Given the description of an element on the screen output the (x, y) to click on. 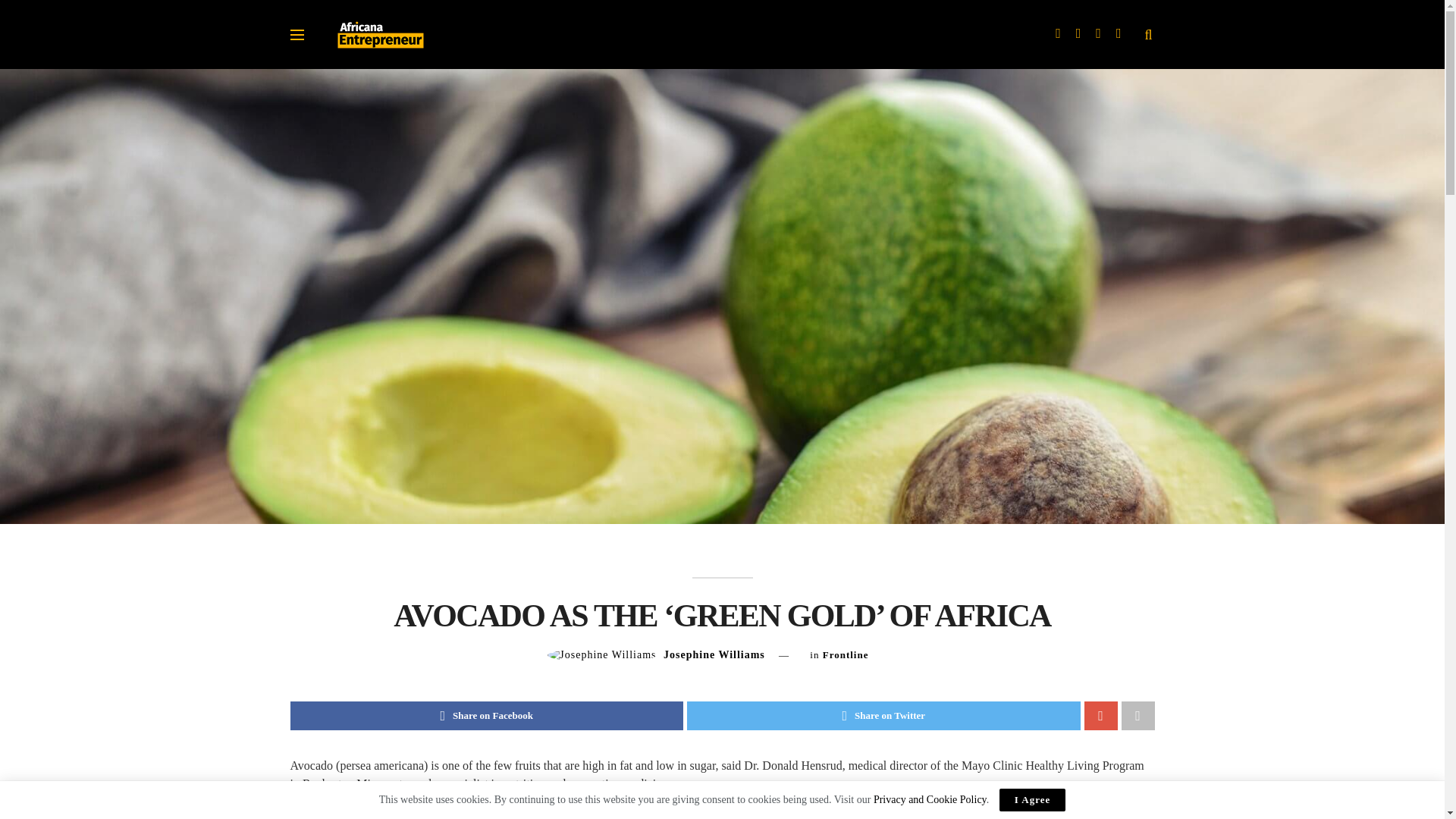
Share on Facebook (485, 715)
Share on Twitter (883, 715)
Josephine Williams (714, 654)
Frontline (845, 654)
